Given the description of an element on the screen output the (x, y) to click on. 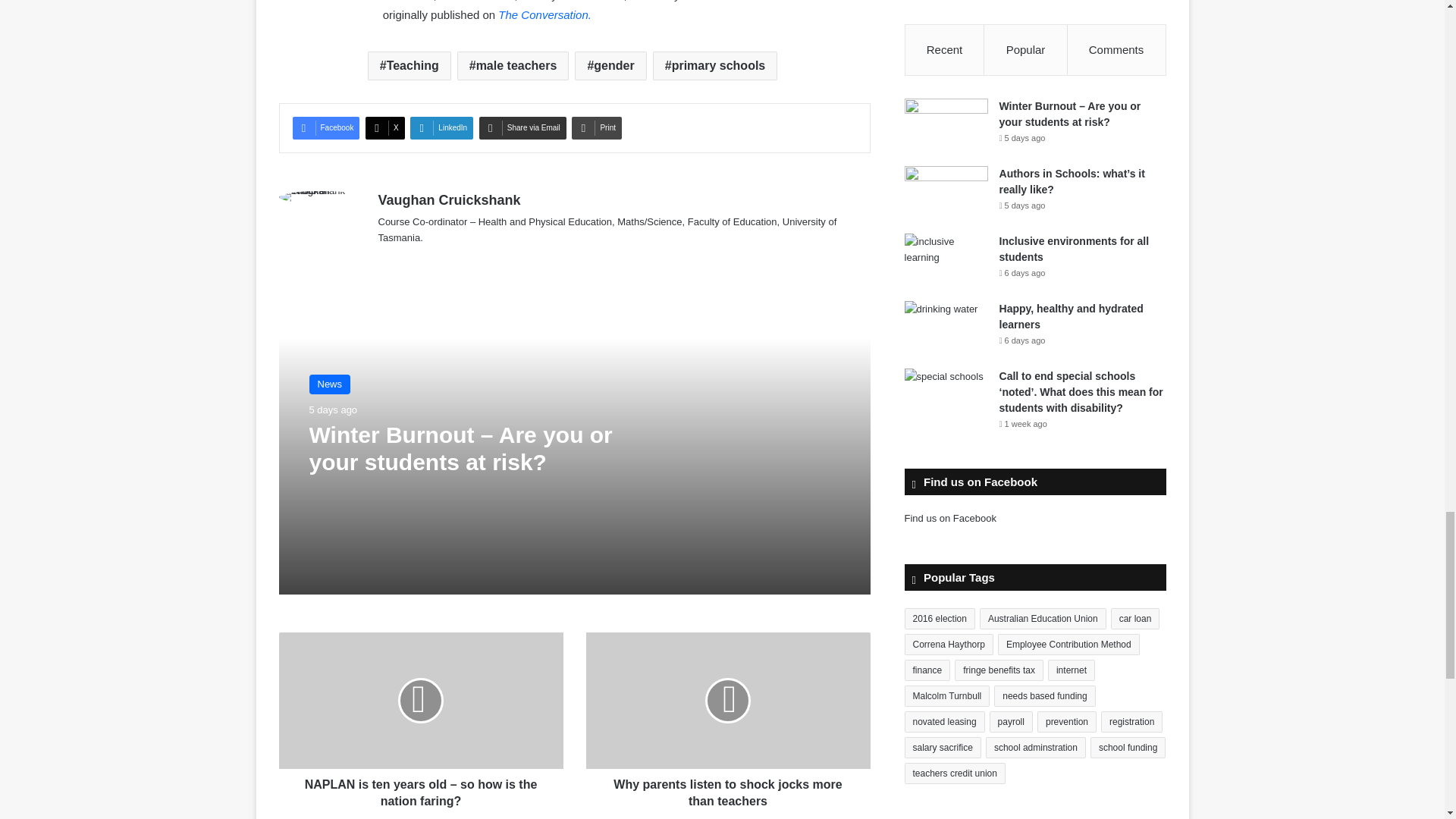
LinkedIn (441, 128)
Print (596, 128)
X (384, 128)
Share via Email (522, 128)
Facebook (325, 128)
